Given the description of an element on the screen output the (x, y) to click on. 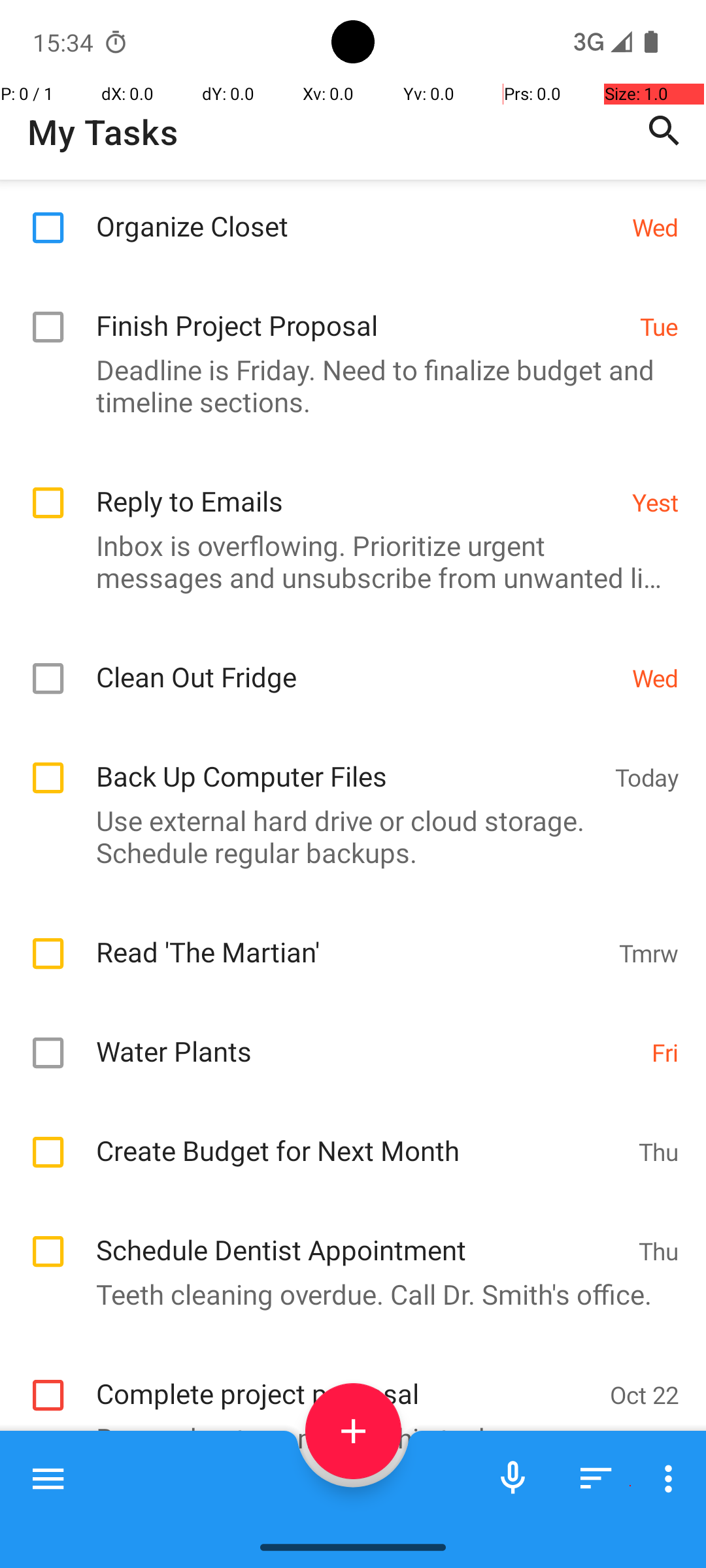
Complete project proposal Element type: android.widget.TextView (346, 1439)
Remember to complete this task. Element type: android.widget.TextView (346, 1498)
